Given the description of an element on the screen output the (x, y) to click on. 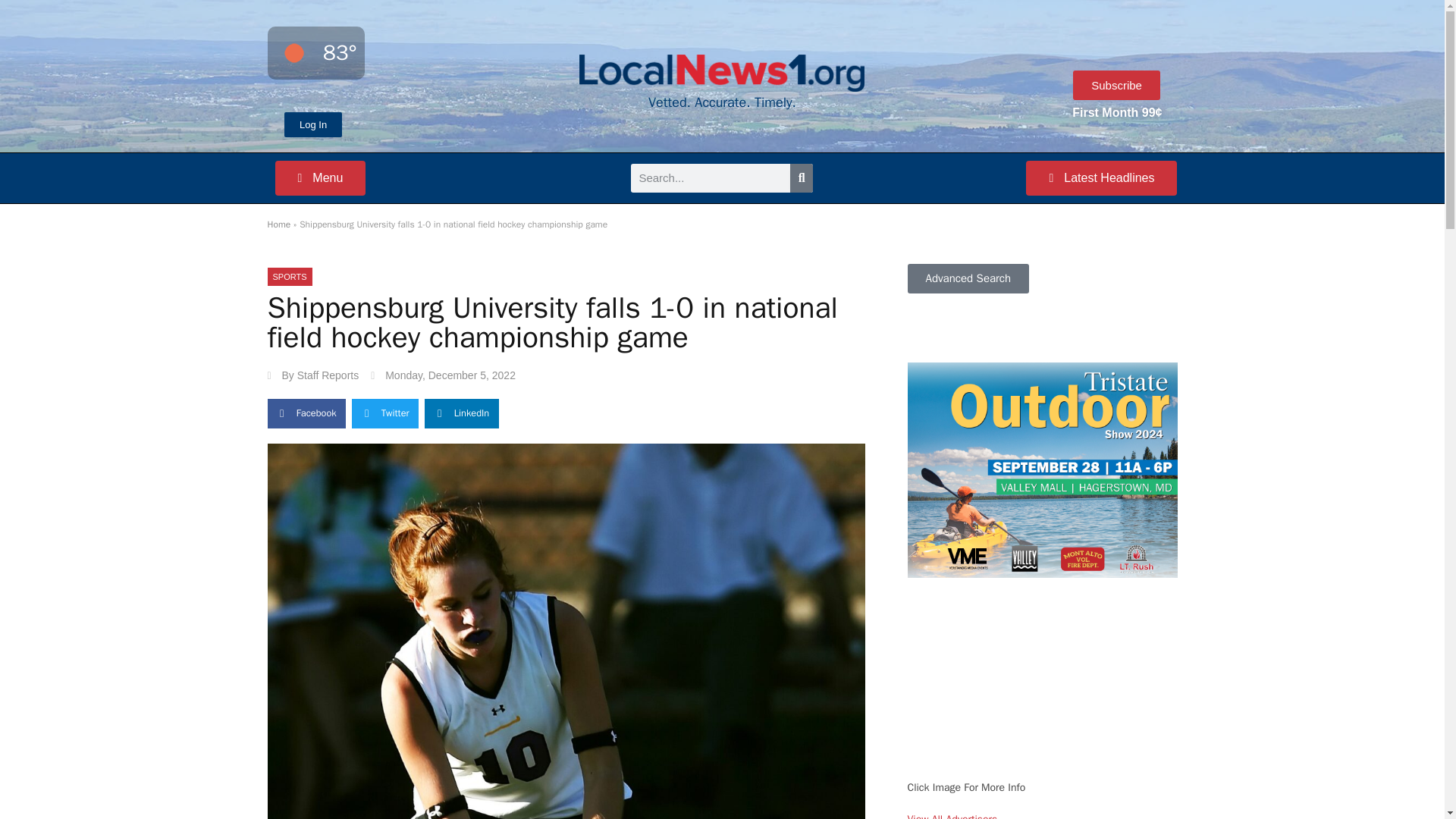
Log In (312, 124)
Home (277, 224)
Advanced Search (968, 278)
Monday, December 5, 2022 (443, 375)
SPORTS (290, 276)
By Staff Reports (312, 375)
Menu (320, 177)
Subscribe (1116, 84)
Latest Headlines (1101, 177)
